Given the description of an element on the screen output the (x, y) to click on. 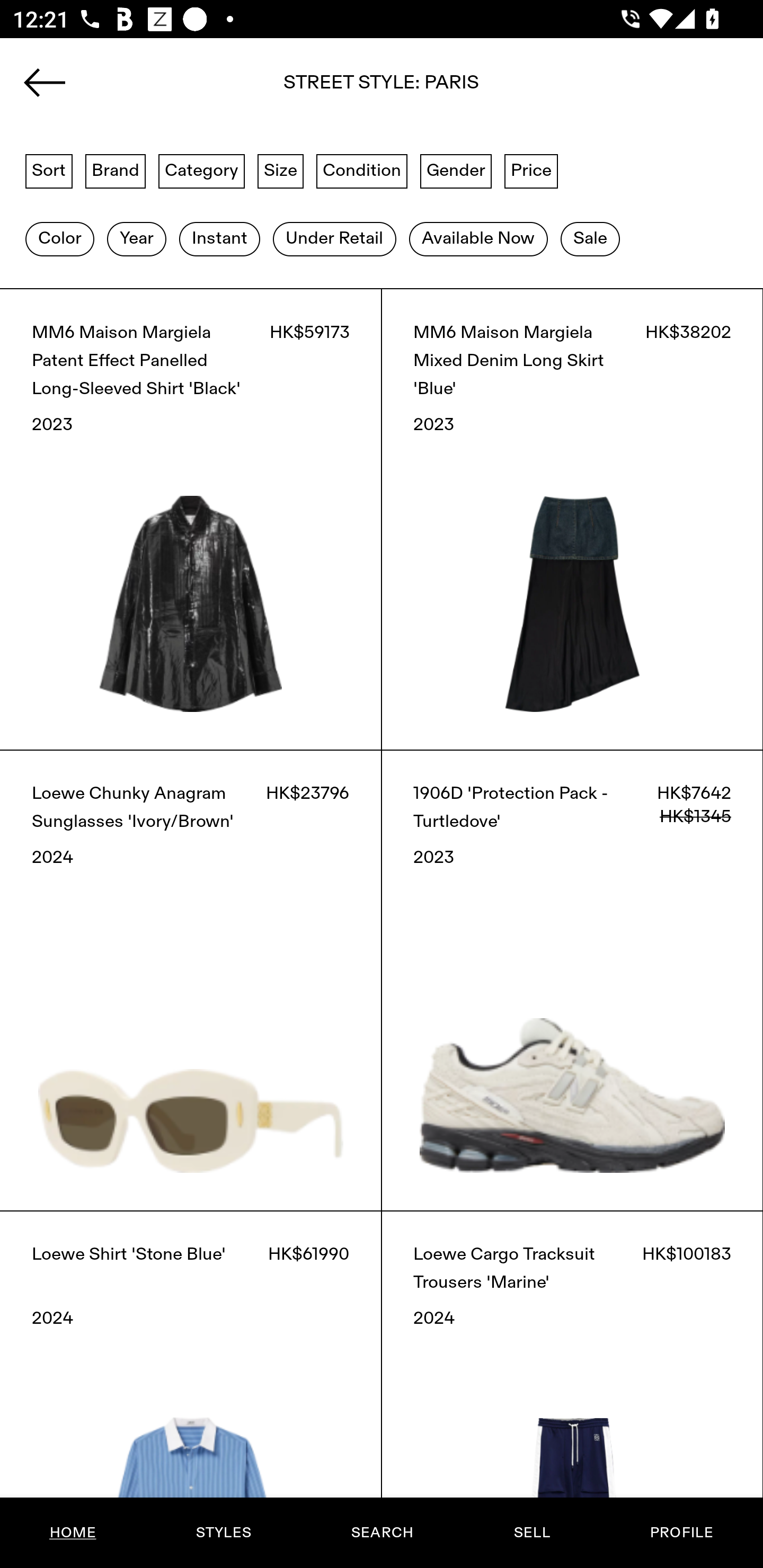
Search (381, 88)
Sort (48, 170)
Brand (115, 170)
Category (201, 170)
Size (280, 170)
Condition (361, 170)
Gender (455, 170)
Price (530, 170)
Color (59, 239)
Year (136, 239)
Instant (219, 239)
Under Retail (334, 239)
Available Now (477, 239)
Sale (589, 239)
Loewe Shirt 'Stone Blue' HK$61990 2024 (190, 1389)
HOME (72, 1532)
STYLES (222, 1532)
SEARCH (381, 1532)
SELL (531, 1532)
PROFILE (681, 1532)
